Given the description of an element on the screen output the (x, y) to click on. 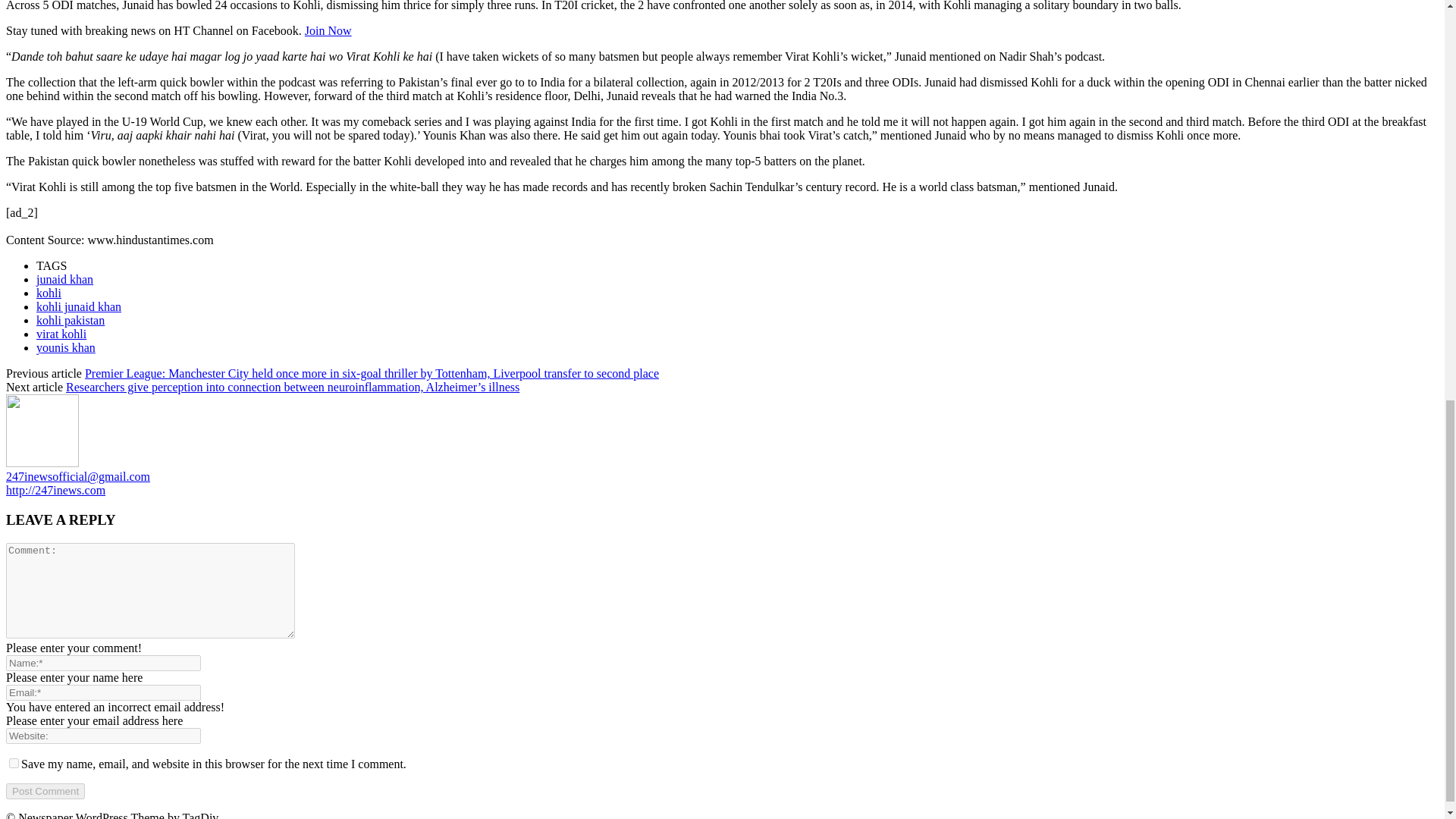
yes (13, 763)
Post Comment (44, 790)
